Given the description of an element on the screen output the (x, y) to click on. 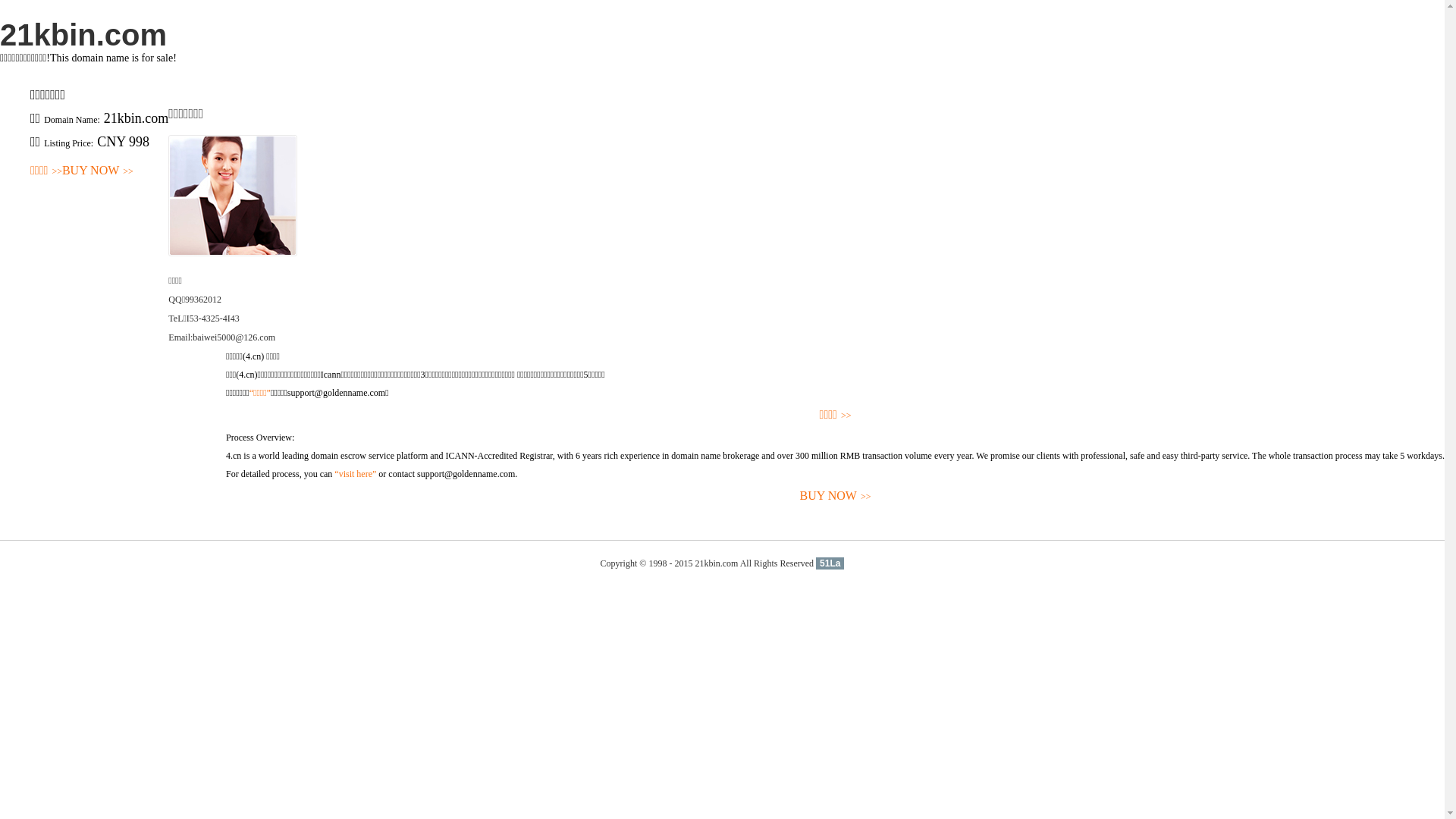
BUY NOW>> Element type: text (97, 170)
BUY NOW>> Element type: text (834, 496)
51La Element type: text (829, 563)
